Given the description of an element on the screen output the (x, y) to click on. 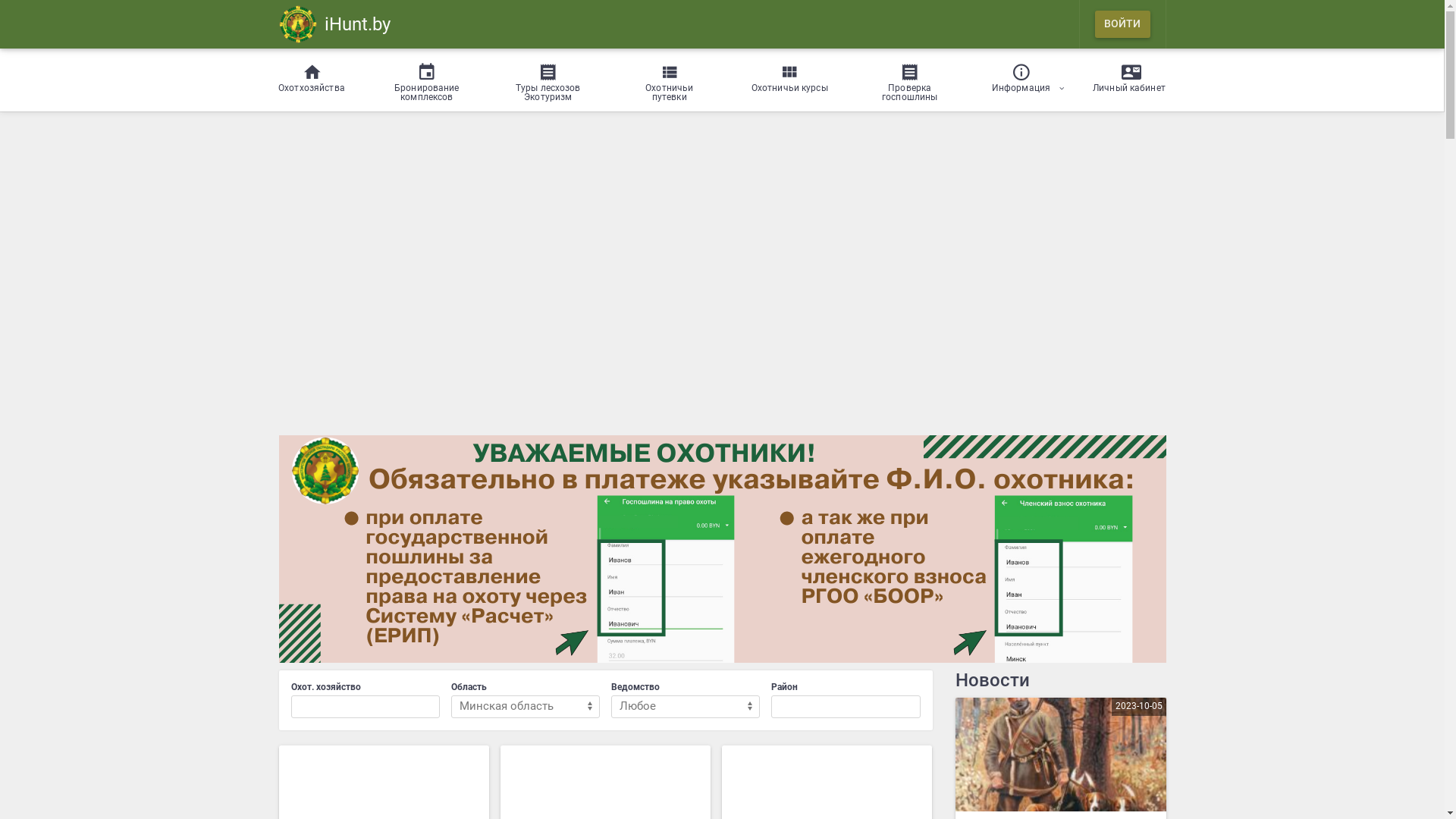
iHunt.by Element type: text (334, 24)
